Given the description of an element on the screen output the (x, y) to click on. 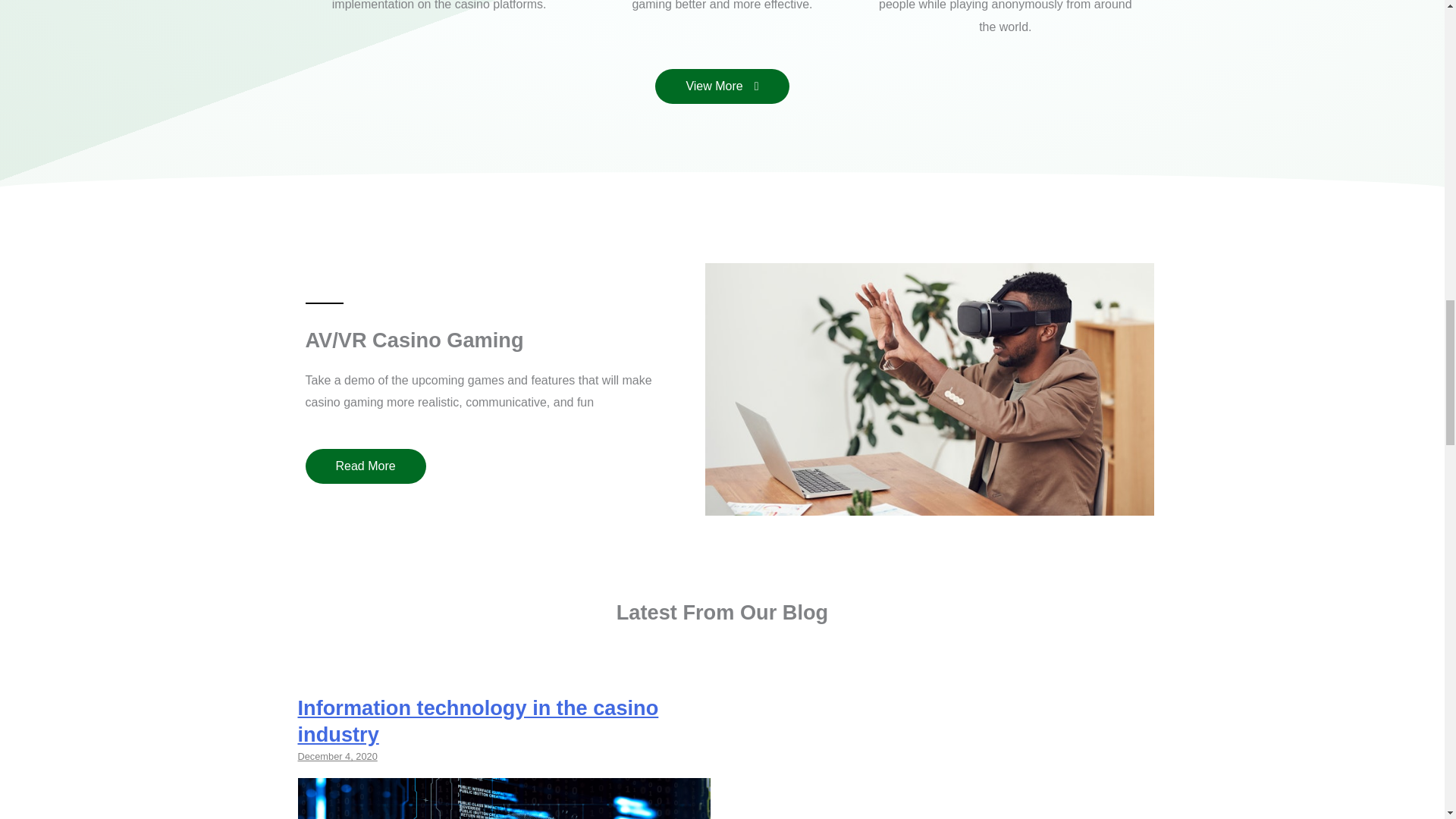
View More (722, 86)
December 4, 2020 (337, 756)
Information technology in the casino industry (477, 721)
11:54 am (337, 756)
Read More (364, 466)
